Given the description of an element on the screen output the (x, y) to click on. 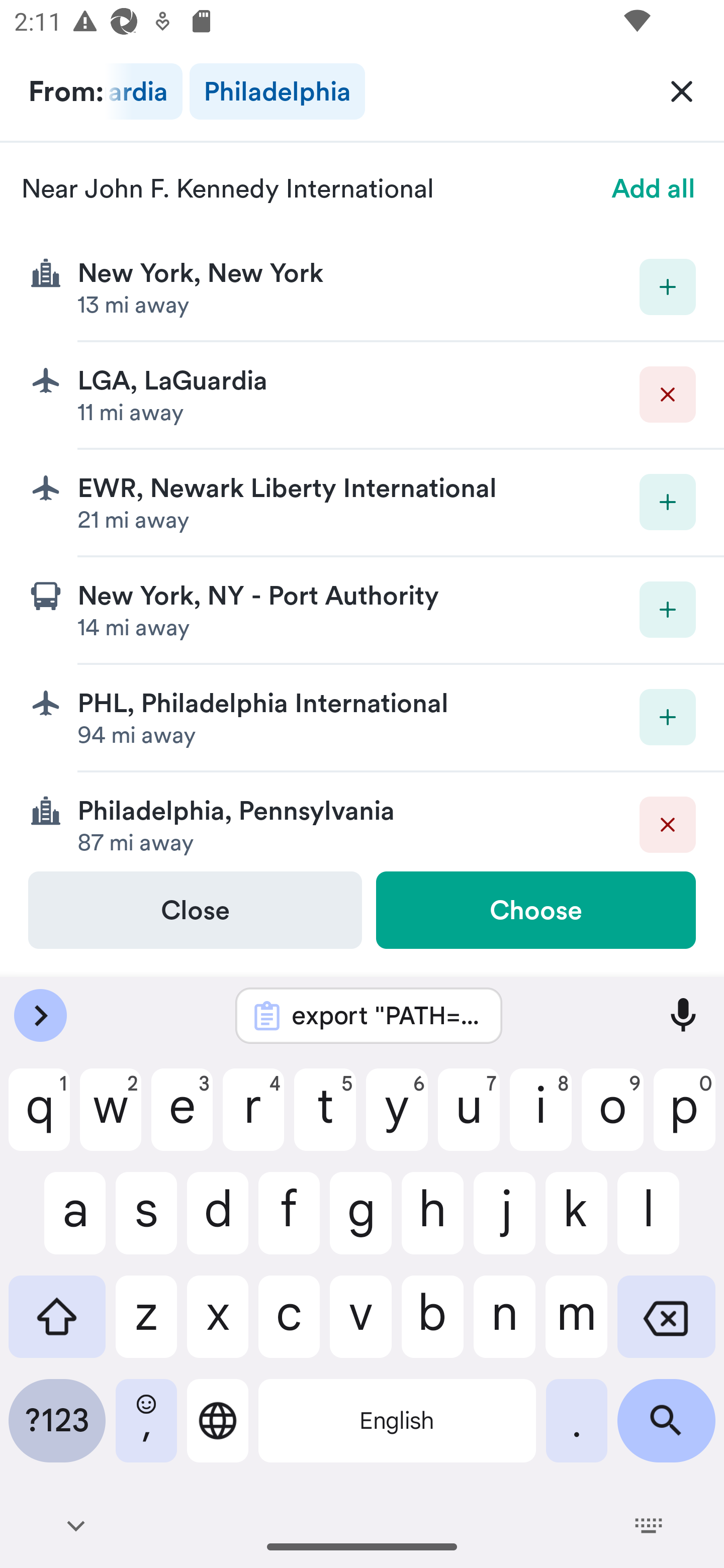
Clear All (681, 90)
LaGuardia (143, 91)
Philadelphia (276, 91)
Add all (653, 187)
Add destination New York, New York 13 mi away (362, 287)
Add destination (667, 286)
Delete LGA, LaGuardia 11 mi away (362, 395)
Delete (667, 394)
Add destination (667, 501)
Add destination (667, 609)
Add destination (667, 716)
Delete Philadelphia, Pennsylvania 87 mi away (362, 821)
Delete (667, 824)
Close (195, 909)
Choose (535, 909)
